Given the description of an element on the screen output the (x, y) to click on. 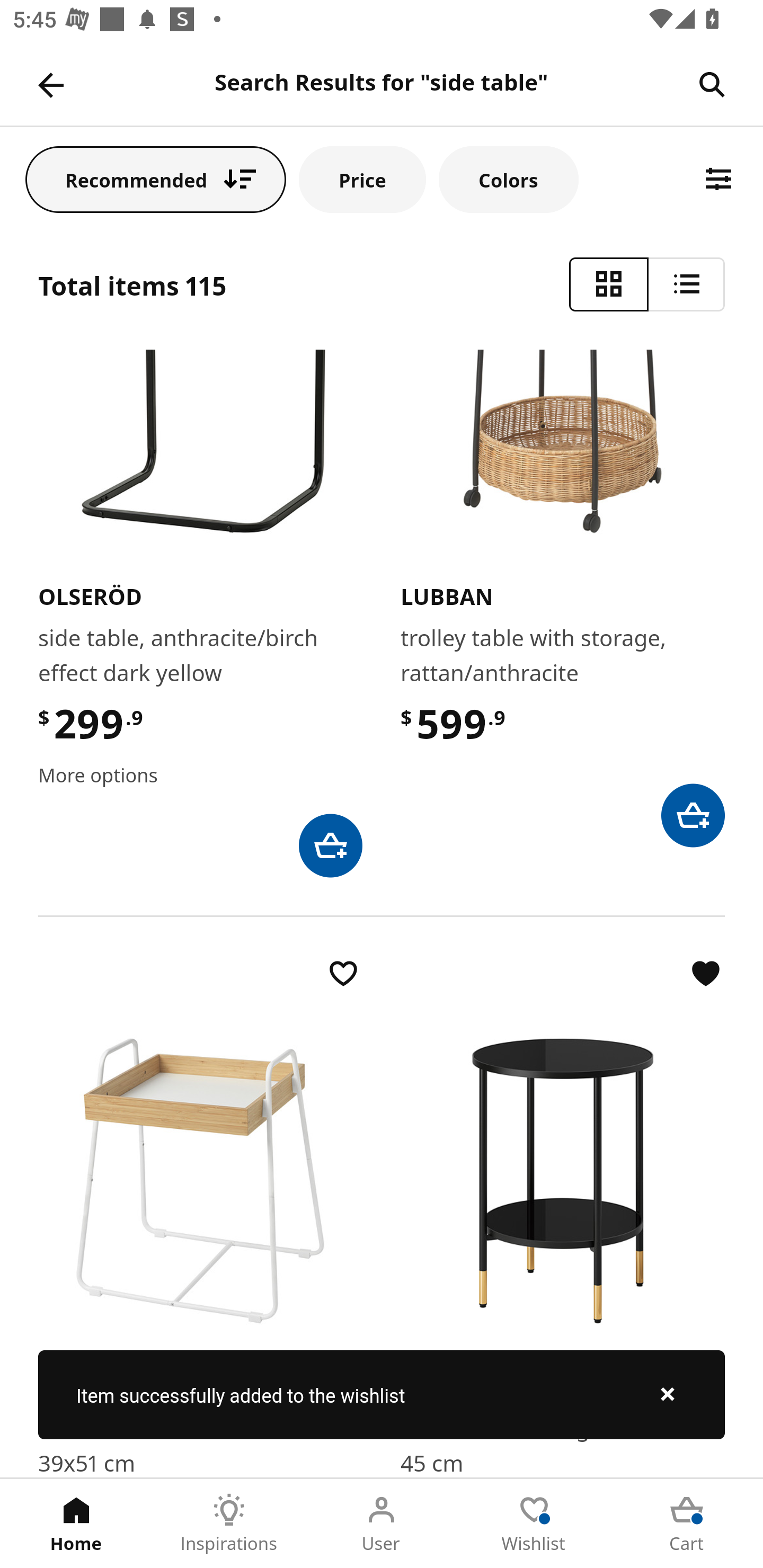
Recommended (155, 179)
Price (362, 179)
Colors (508, 179)
Item successfully added to the wishlist (381, 1394)
Home
Tab 1 of 5 (76, 1522)
Inspirations
Tab 2 of 5 (228, 1522)
User
Tab 3 of 5 (381, 1522)
Wishlist
Tab 4 of 5 (533, 1522)
Cart
Tab 5 of 5 (686, 1522)
